Given the description of an element on the screen output the (x, y) to click on. 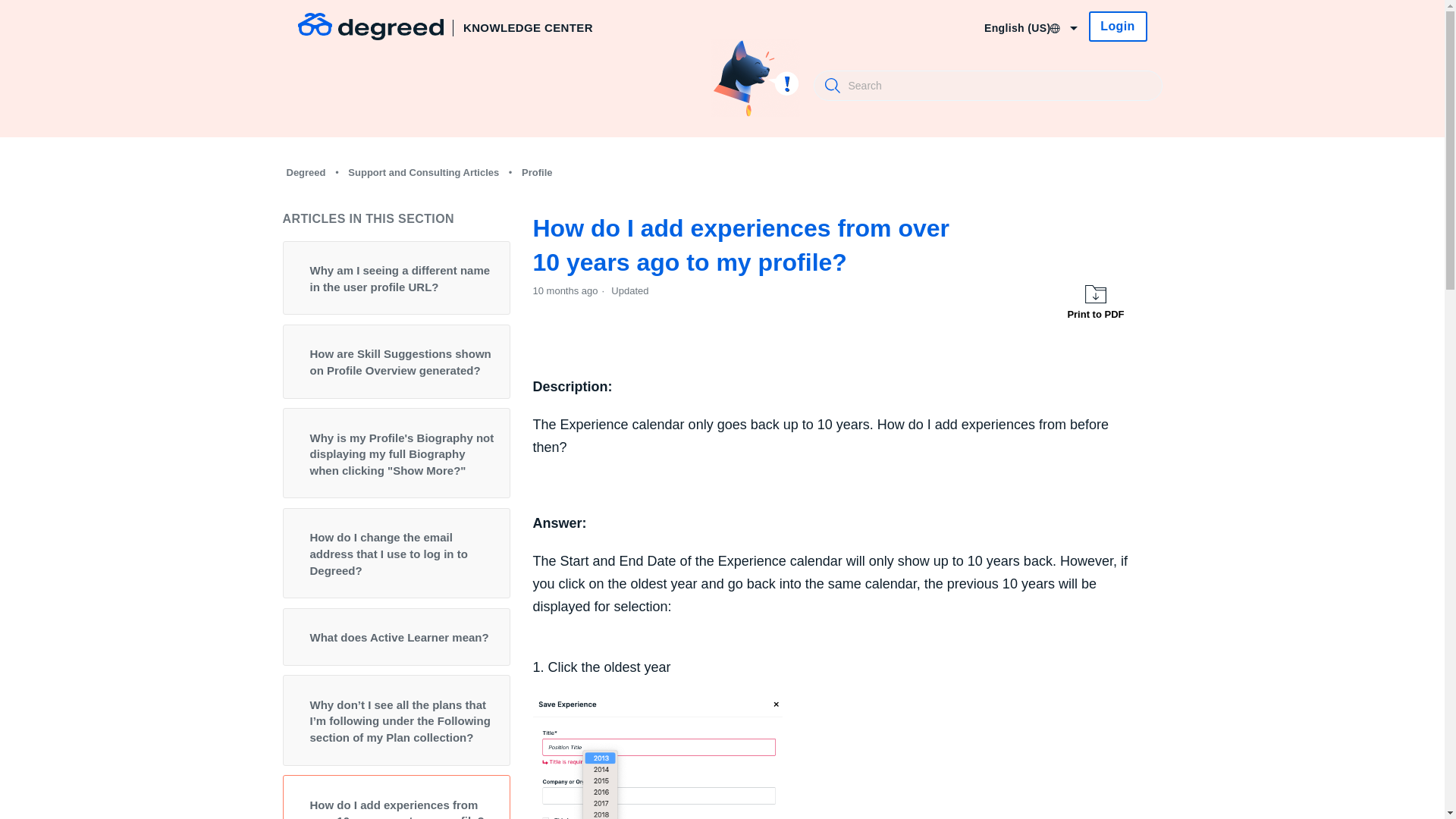
Opens a dialog (1118, 26)
Support and Consulting Articles (418, 172)
Home (526, 26)
Support and Consulting Articles (422, 171)
What does Active Learner mean? (395, 636)
Degreed (305, 171)
Print to PDF (1095, 303)
Why am I seeing a different name in the user profile URL? (395, 277)
Profile (537, 171)
Login (1118, 26)
